Given the description of an element on the screen output the (x, y) to click on. 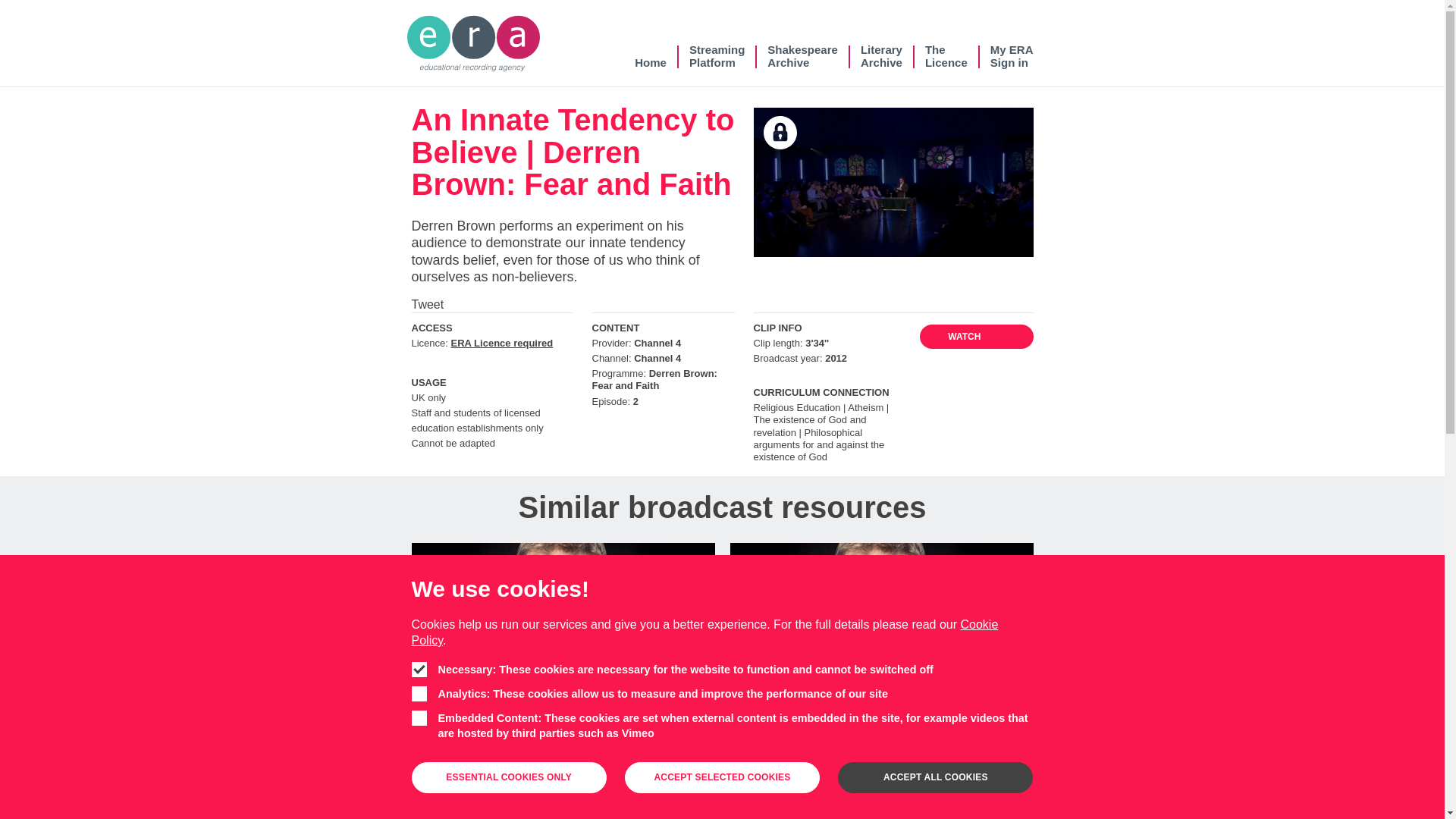
Home (946, 56)
ERA Licence required (881, 56)
Tweet (650, 56)
